Given the description of an element on the screen output the (x, y) to click on. 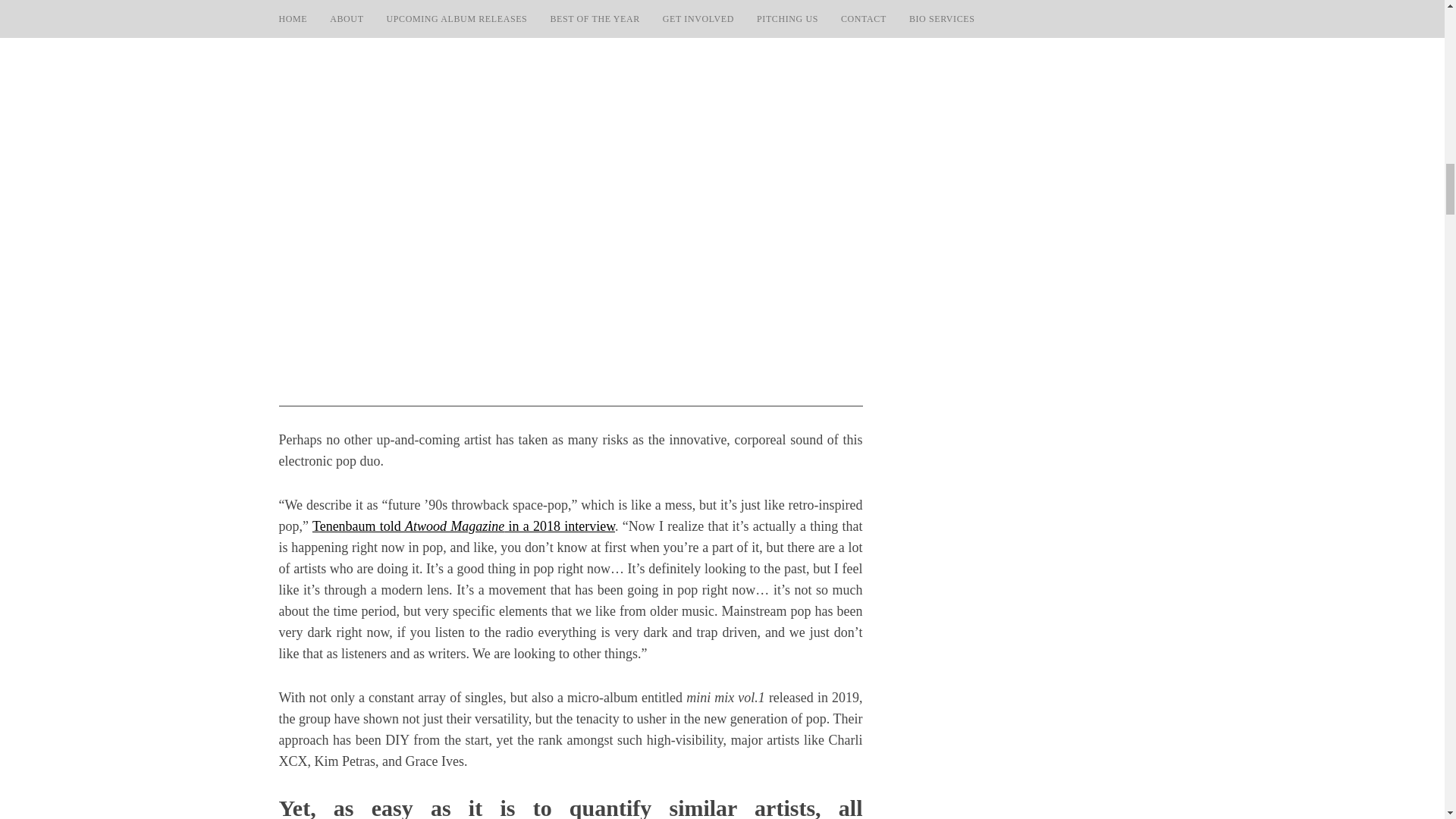
Tenenbaum told Atwood Magazine in a 2018 interview (463, 525)
